Given the description of an element on the screen output the (x, y) to click on. 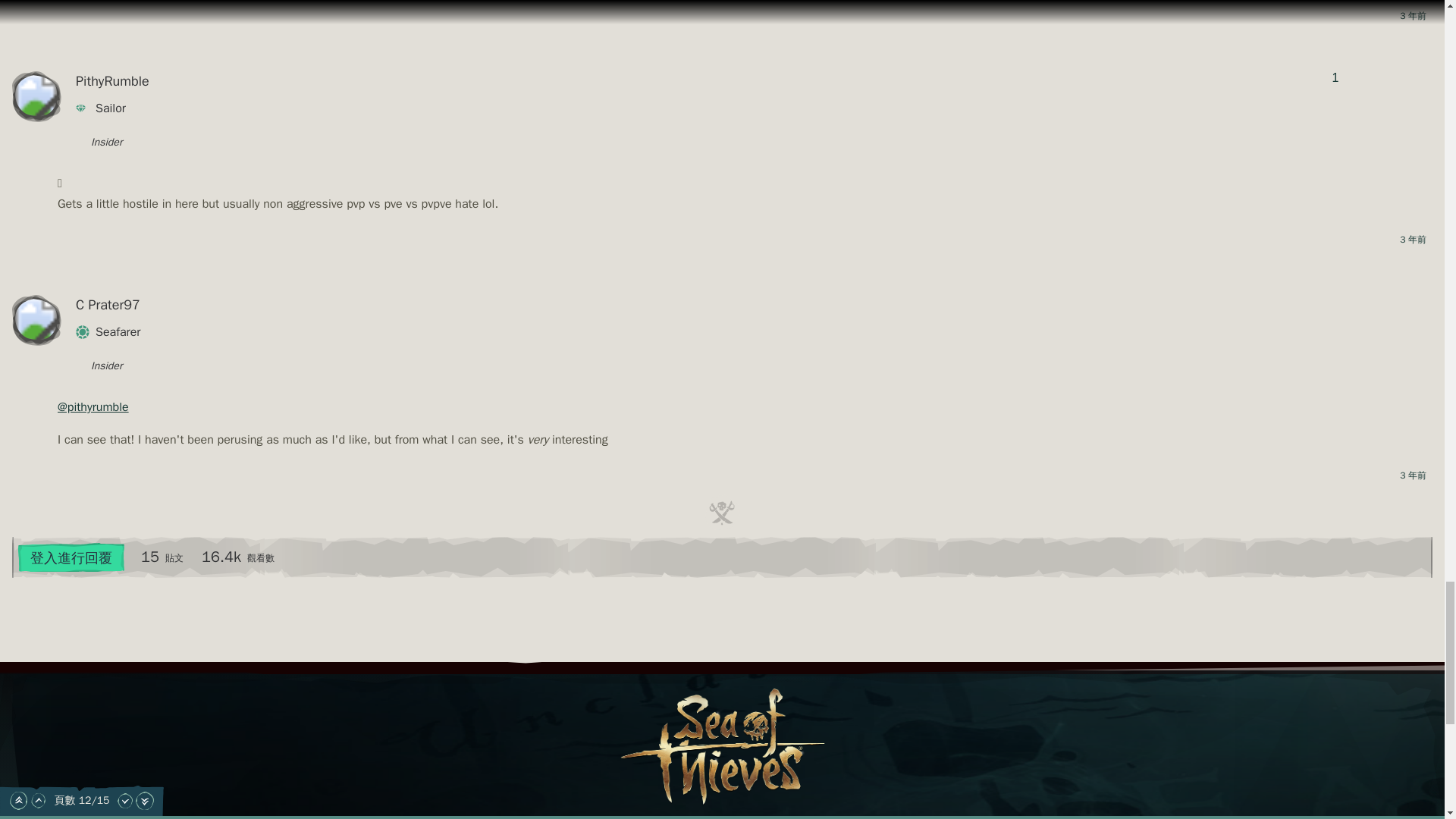
1 (1335, 78)
